Given the description of an element on the screen output the (x, y) to click on. 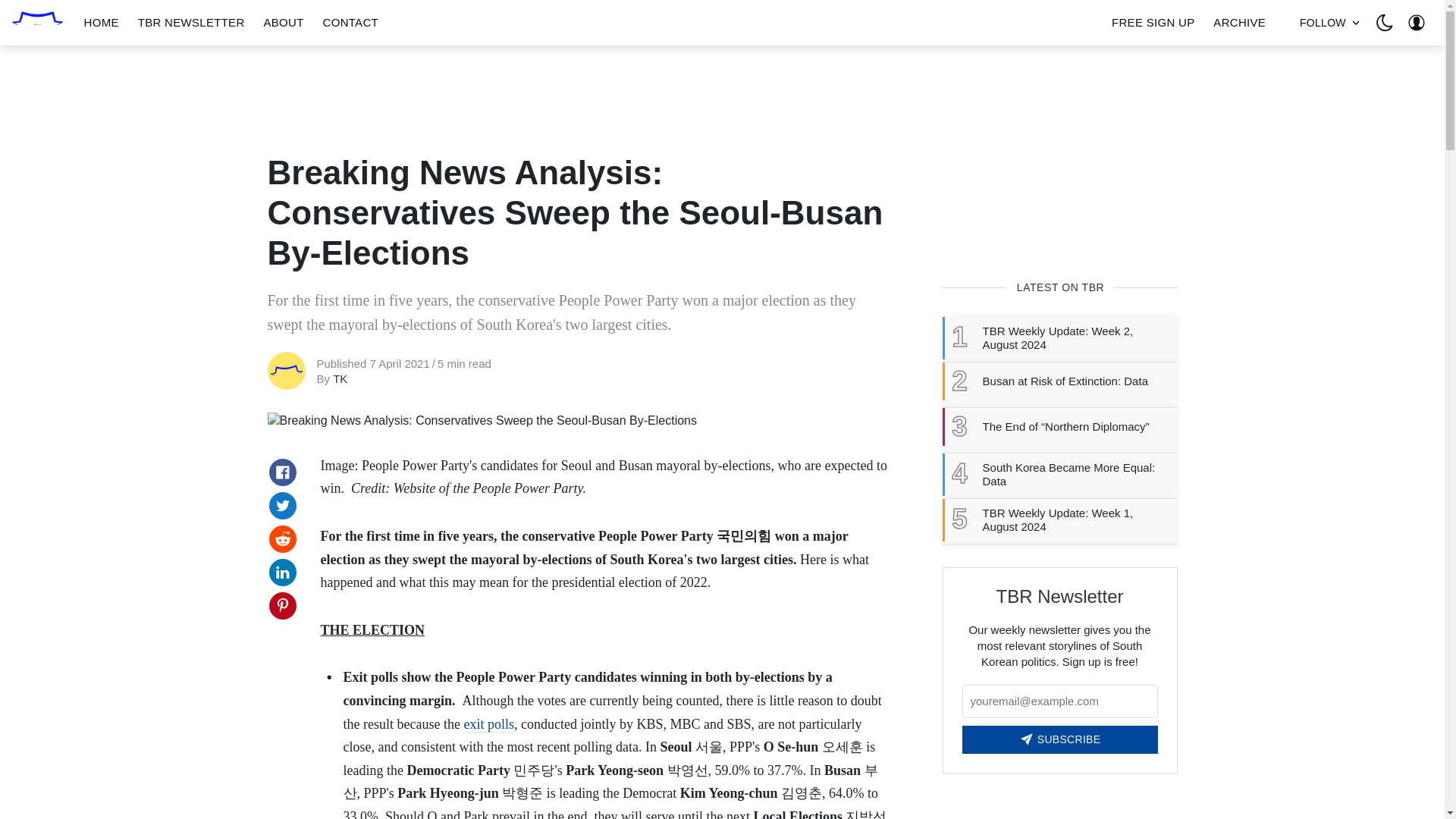
FREE SIGN UP (1152, 22)
exit polls (488, 724)
CONTACT (350, 22)
TBR NEWSLETTER (191, 22)
Posts by TK (340, 378)
HOME (101, 22)
ARCHIVE (1239, 22)
ABOUT (282, 22)
TK (340, 378)
